Given the description of an element on the screen output the (x, y) to click on. 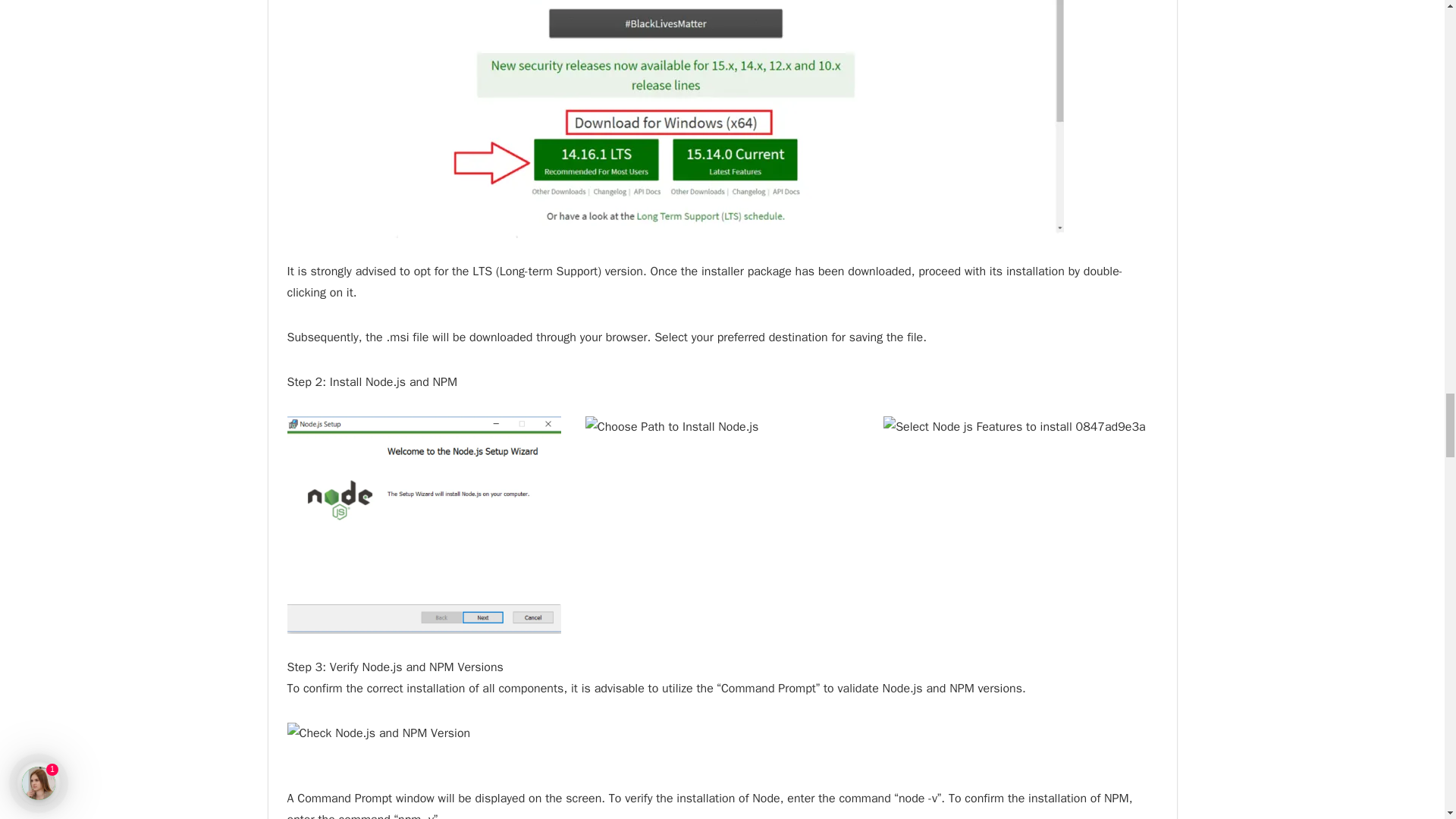
How to Install Node.js and NPM on Windows? 7 (378, 732)
How to Install Node.js and NPM on Windows? 6 (1020, 523)
How to Install Node.js and NPM on Windows? 5 (722, 522)
How to Install Node.js and NPM on Windows? 4 (423, 524)
